Given the description of an element on the screen output the (x, y) to click on. 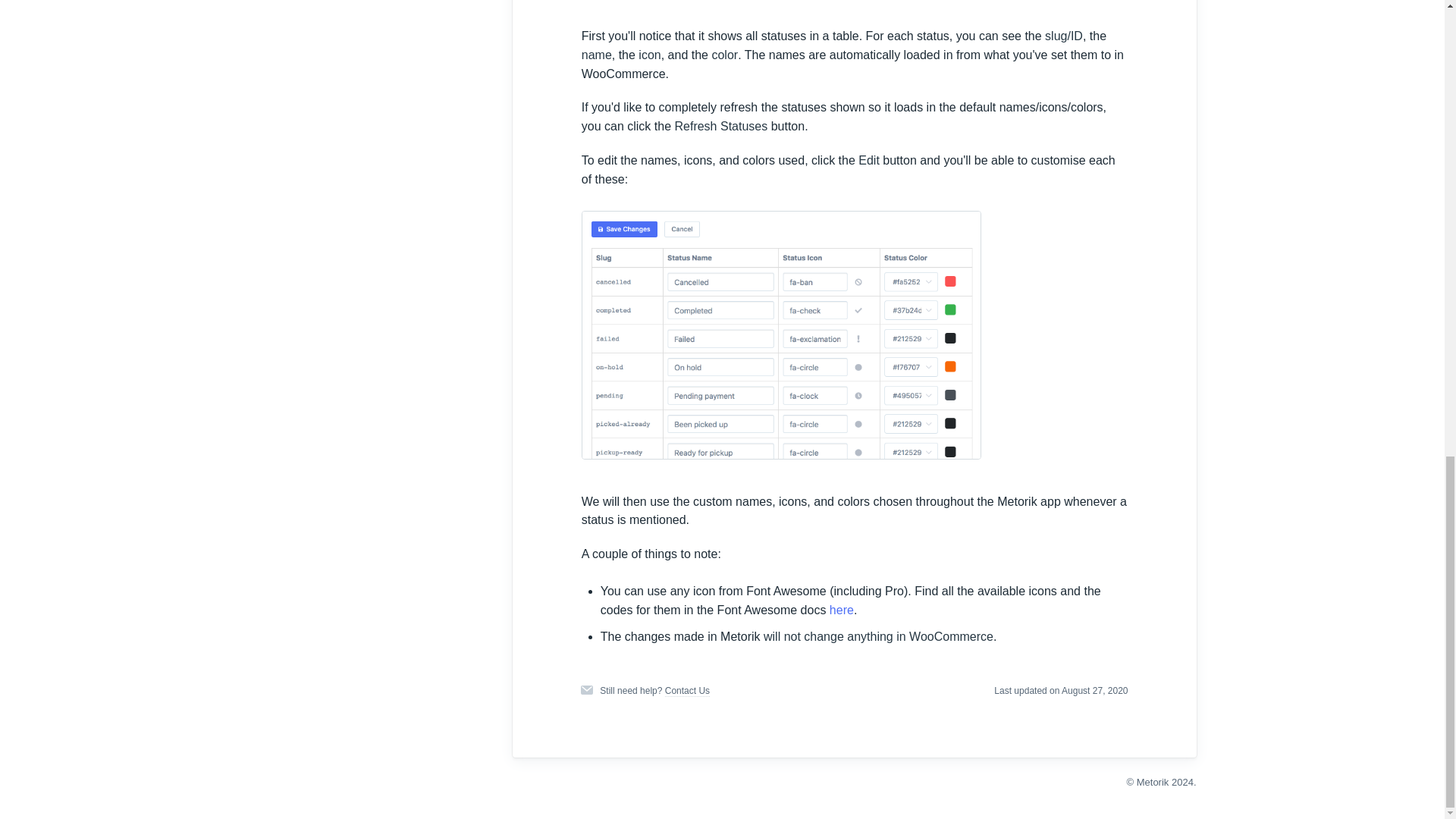
here (841, 609)
Contact Us (687, 690)
